Given the description of an element on the screen output the (x, y) to click on. 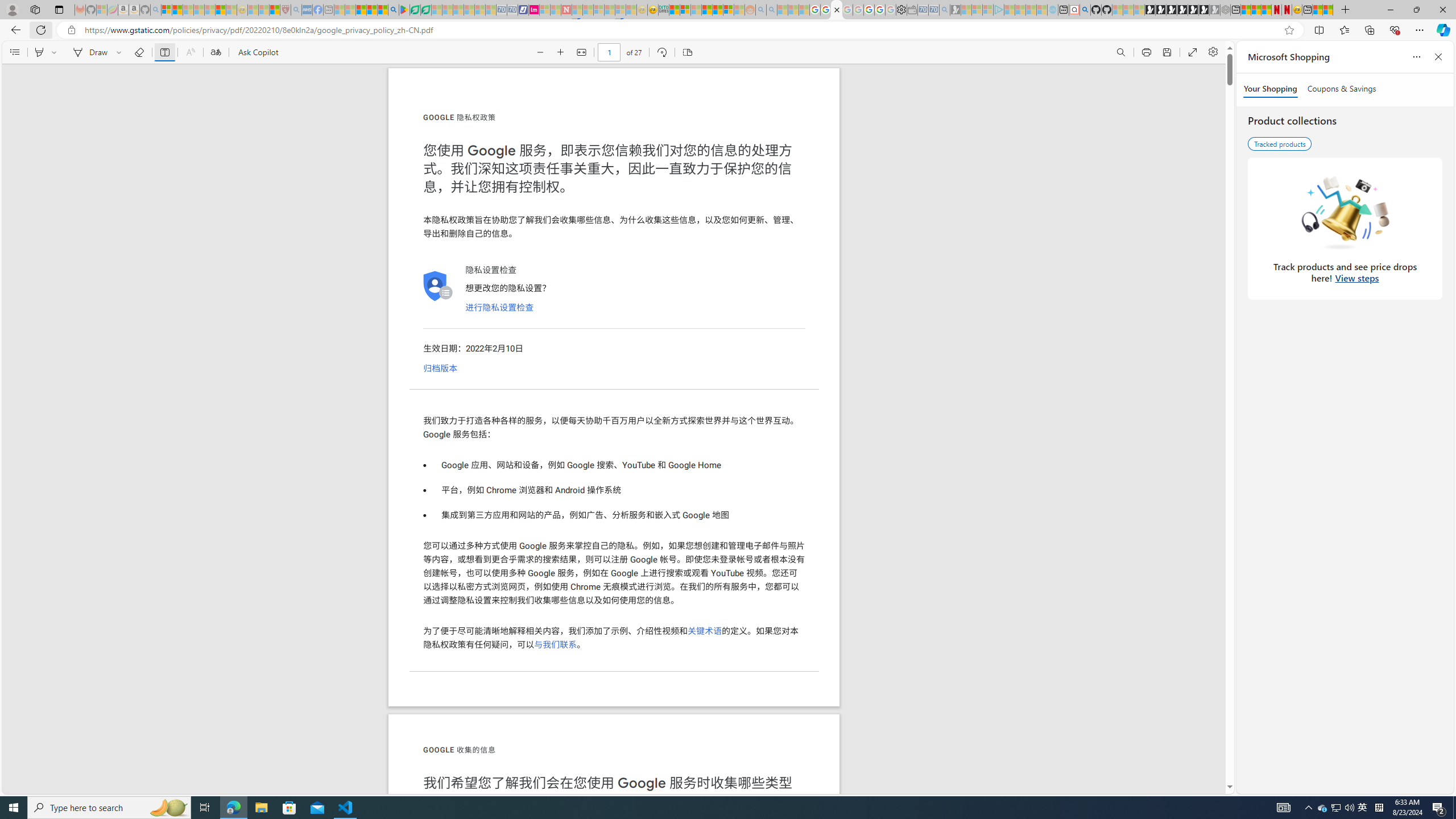
Contents (14, 52)
Microsoft Word - consumer-privacy address update 2.2021 (426, 9)
Draw (88, 52)
